Given the description of an element on the screen output the (x, y) to click on. 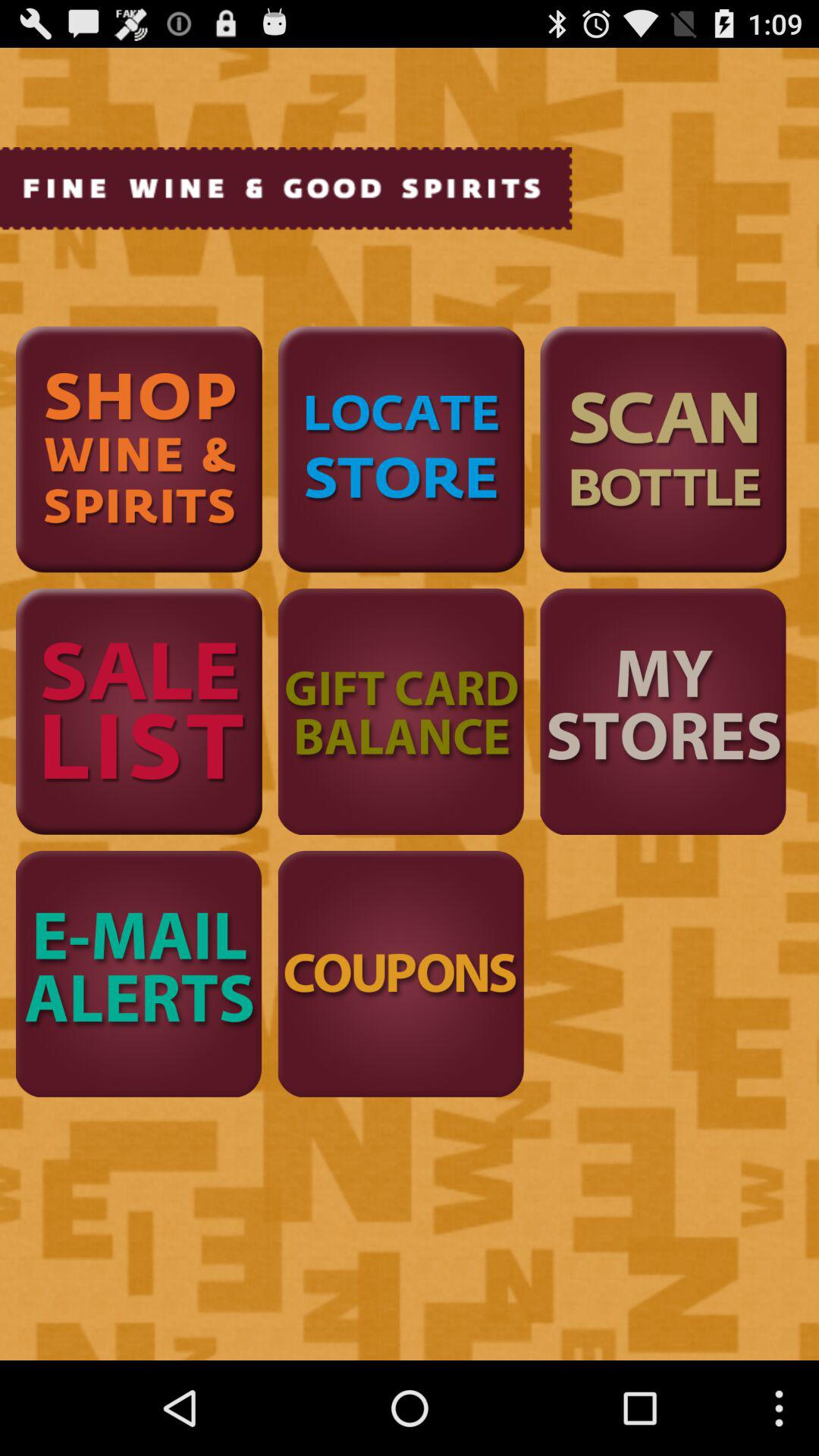
click the e-mail alerts (138, 973)
